Given the description of an element on the screen output the (x, y) to click on. 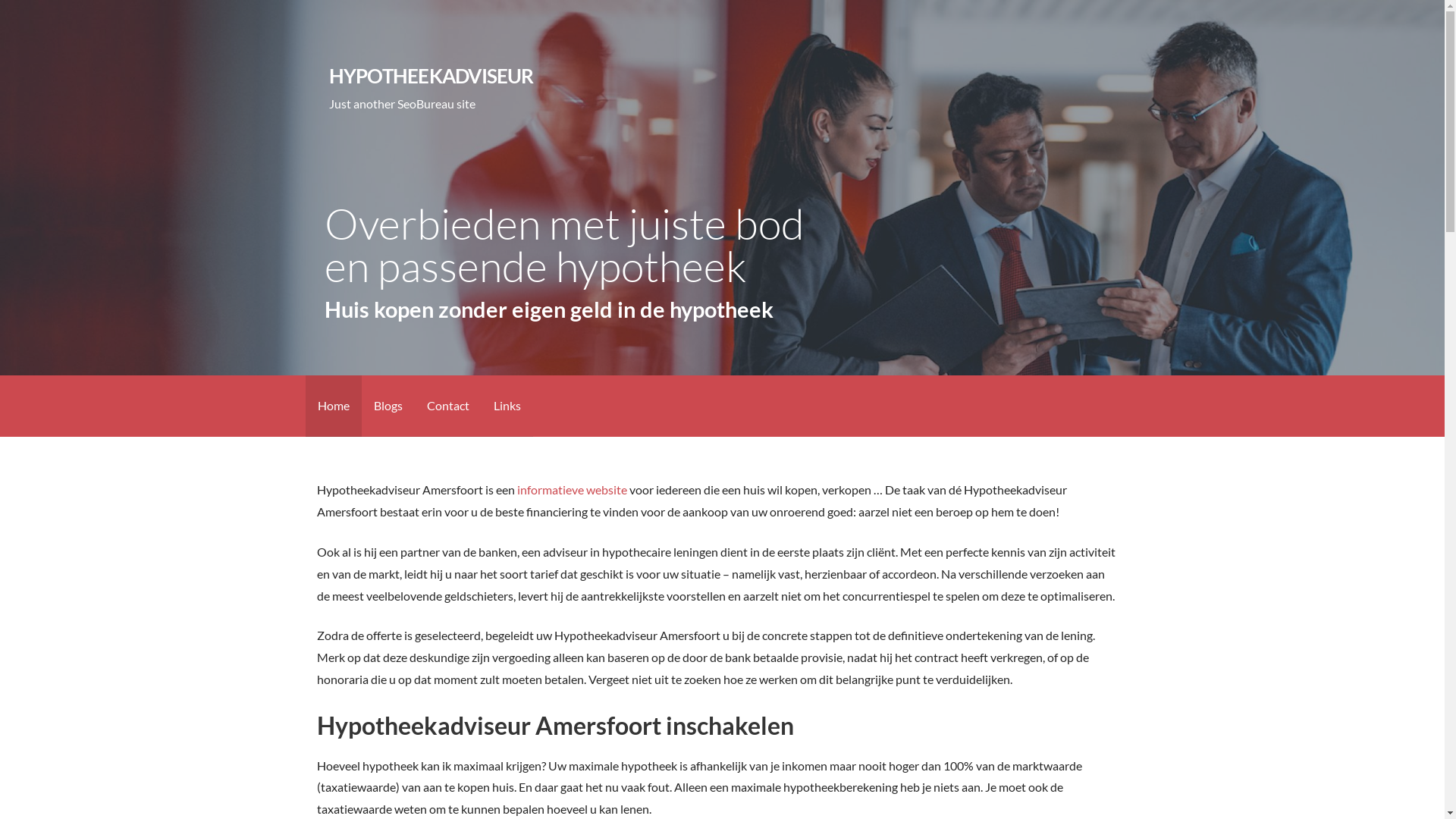
informatieve website Element type: text (572, 489)
Blogs Element type: text (387, 405)
Contact Element type: text (447, 405)
HYPOTHEEKADVISEUR Element type: text (431, 75)
Links Element type: text (506, 405)
Home Element type: text (332, 405)
